Given the description of an element on the screen output the (x, y) to click on. 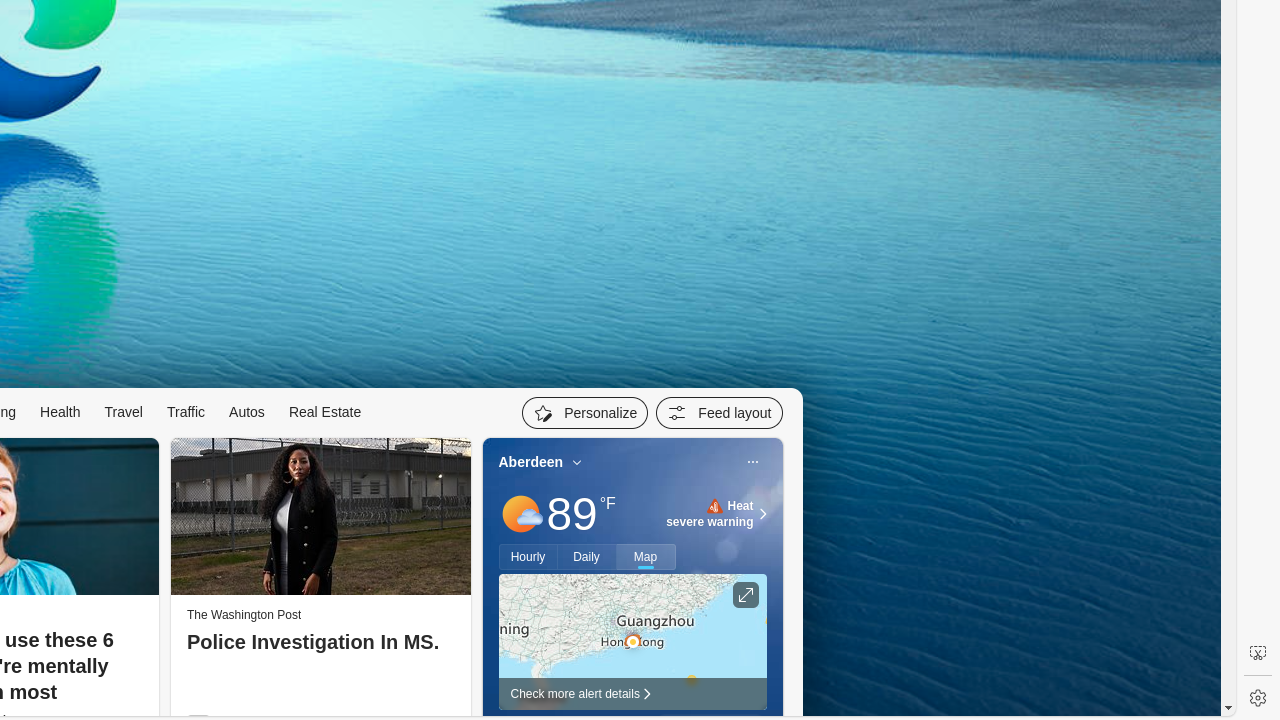
Real Estate Element type: link (325, 412)
My location Element type: push-button (577, 462)
Personalize your feed" Element type: push-button (585, 413)
Feed settings Element type: push-button (719, 413)
Map Element type: list-item (646, 557)
